Given the description of an element on the screen output the (x, y) to click on. 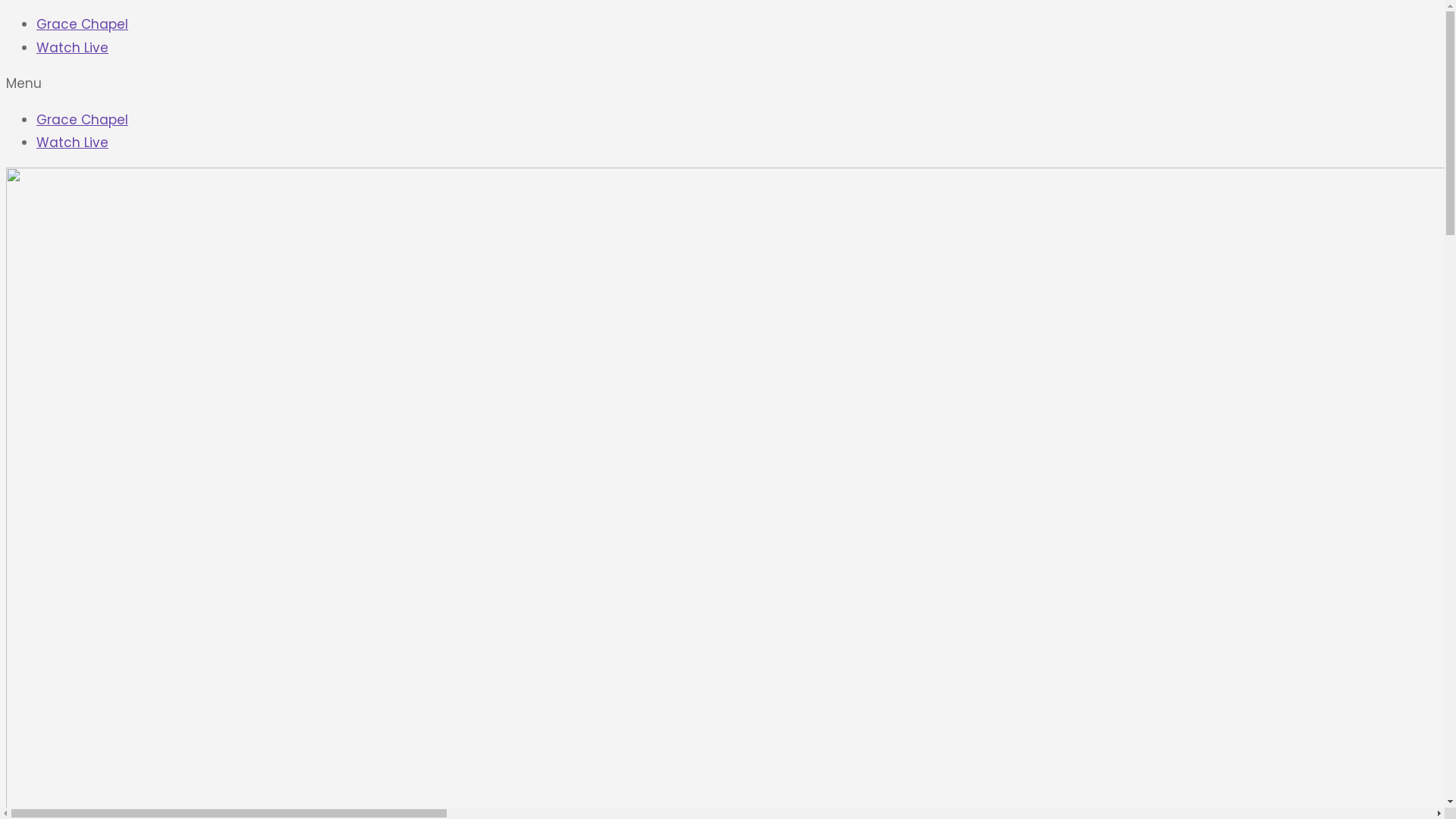
Watch Live Element type: text (72, 142)
Watch Live Element type: text (72, 47)
Grace Chapel Element type: text (82, 119)
Grace Chapel Element type: text (82, 24)
